Given the description of an element on the screen output the (x, y) to click on. 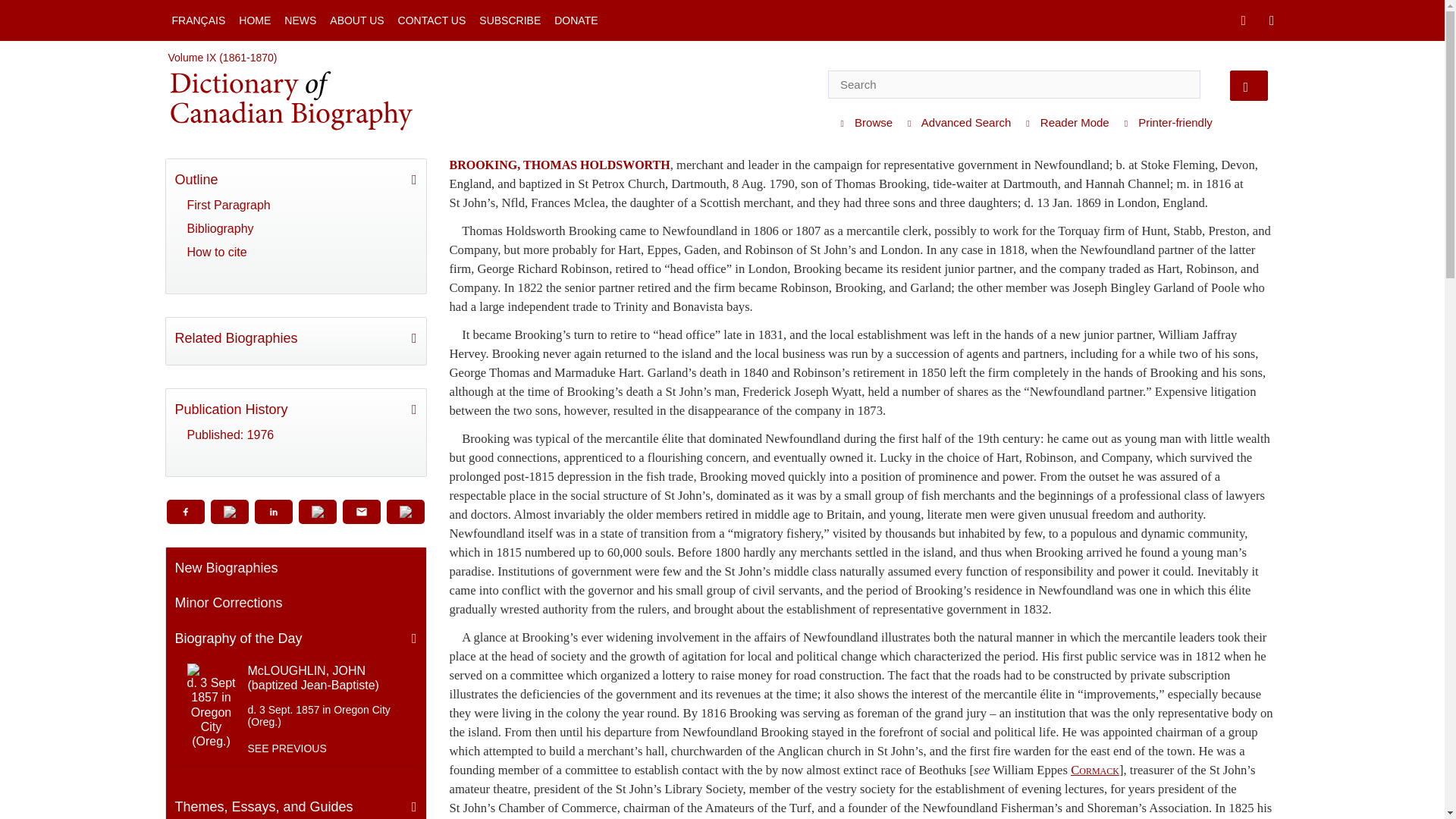
Outline (295, 180)
Contact Us (432, 20)
 Advanced Search (955, 123)
 Reader Mode (1063, 123)
 Printer-friendly (1164, 123)
How to cite (295, 252)
HOME (254, 20)
Bibliography (295, 228)
NEWS (300, 20)
CONTACT US (432, 20)
